Given the description of an element on the screen output the (x, y) to click on. 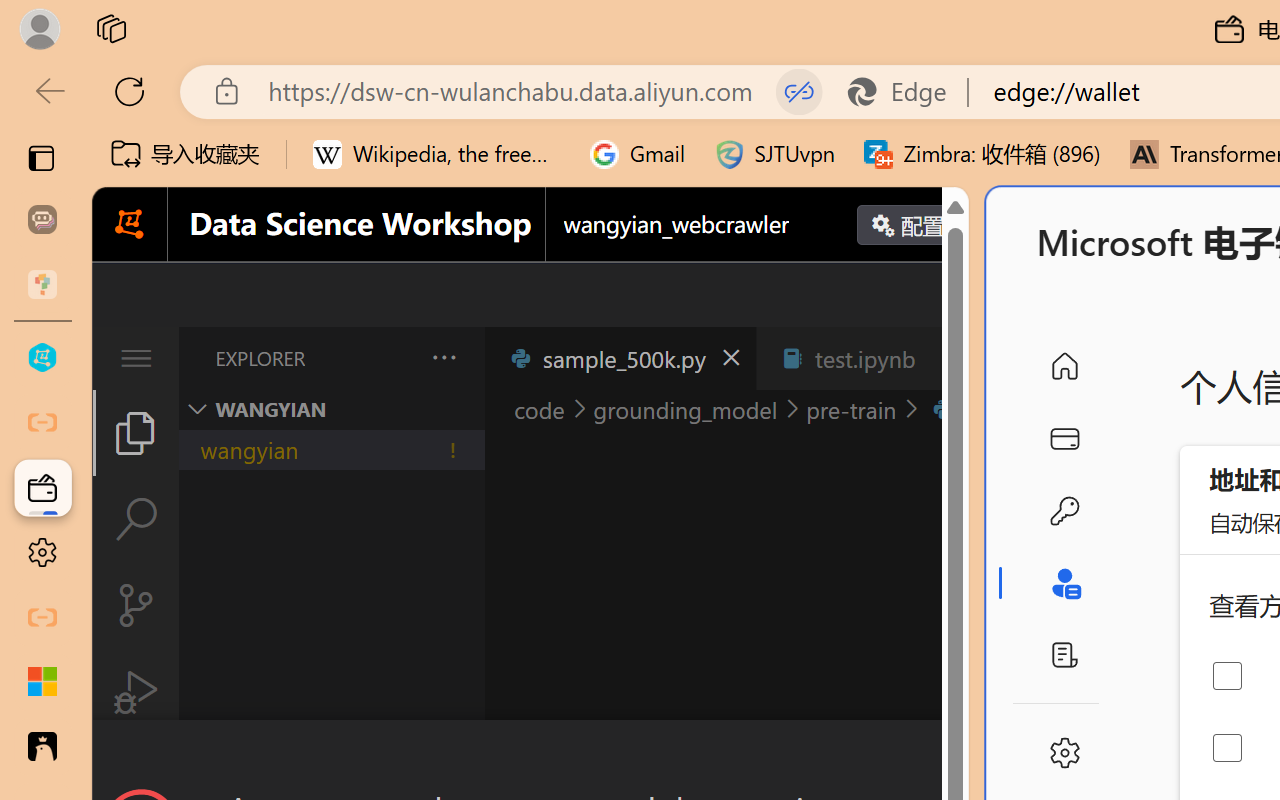
Search (Ctrl+Shift+F) (135, 519)
Tab actions (945, 358)
